Given the description of an element on the screen output the (x, y) to click on. 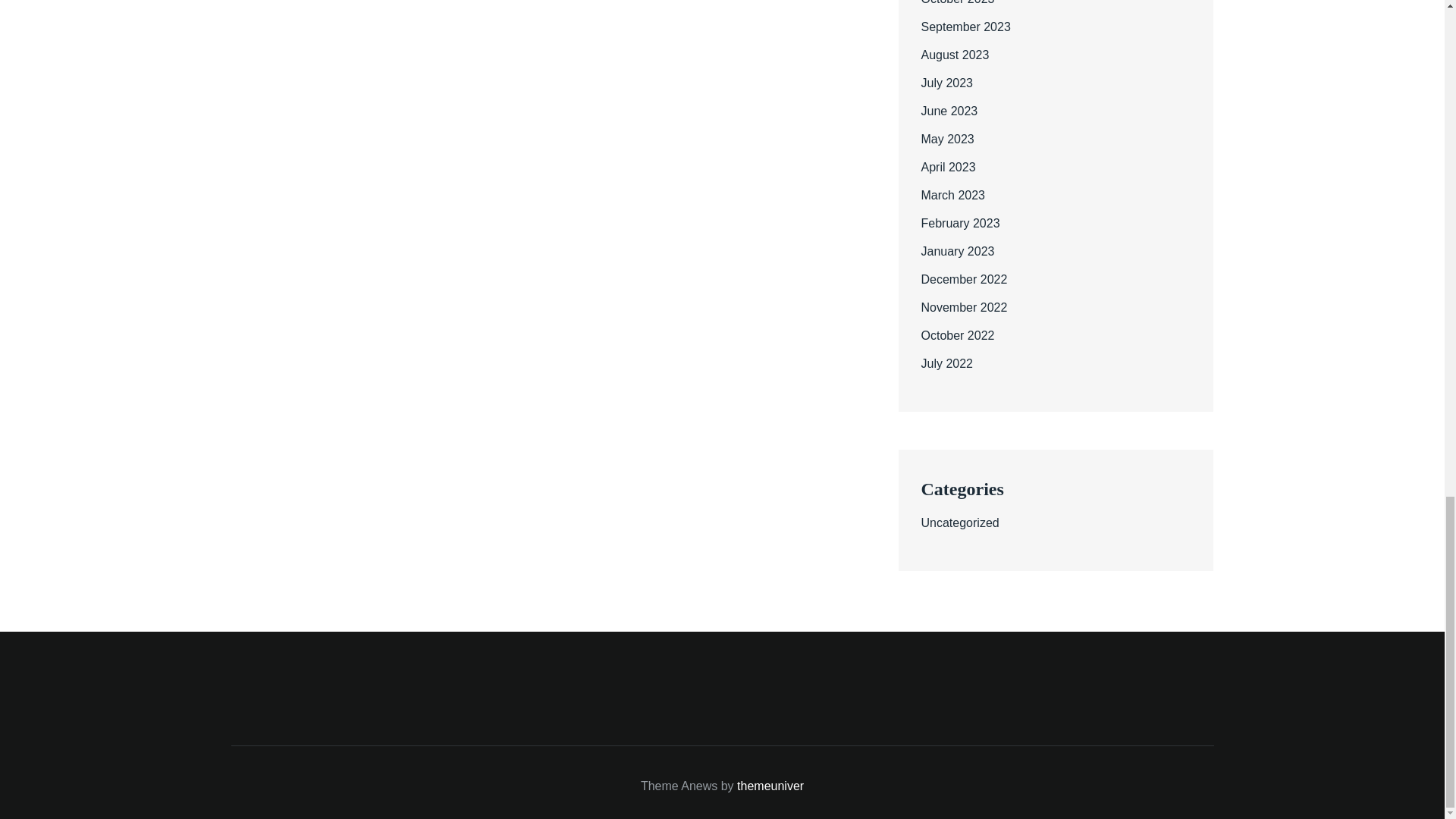
March 2023 (952, 195)
April 2023 (947, 166)
June 2023 (948, 110)
July 2023 (946, 82)
August 2023 (954, 54)
September 2023 (965, 26)
February 2023 (959, 223)
January 2023 (957, 250)
May 2023 (947, 138)
October 2023 (957, 2)
